Given the description of an element on the screen output the (x, y) to click on. 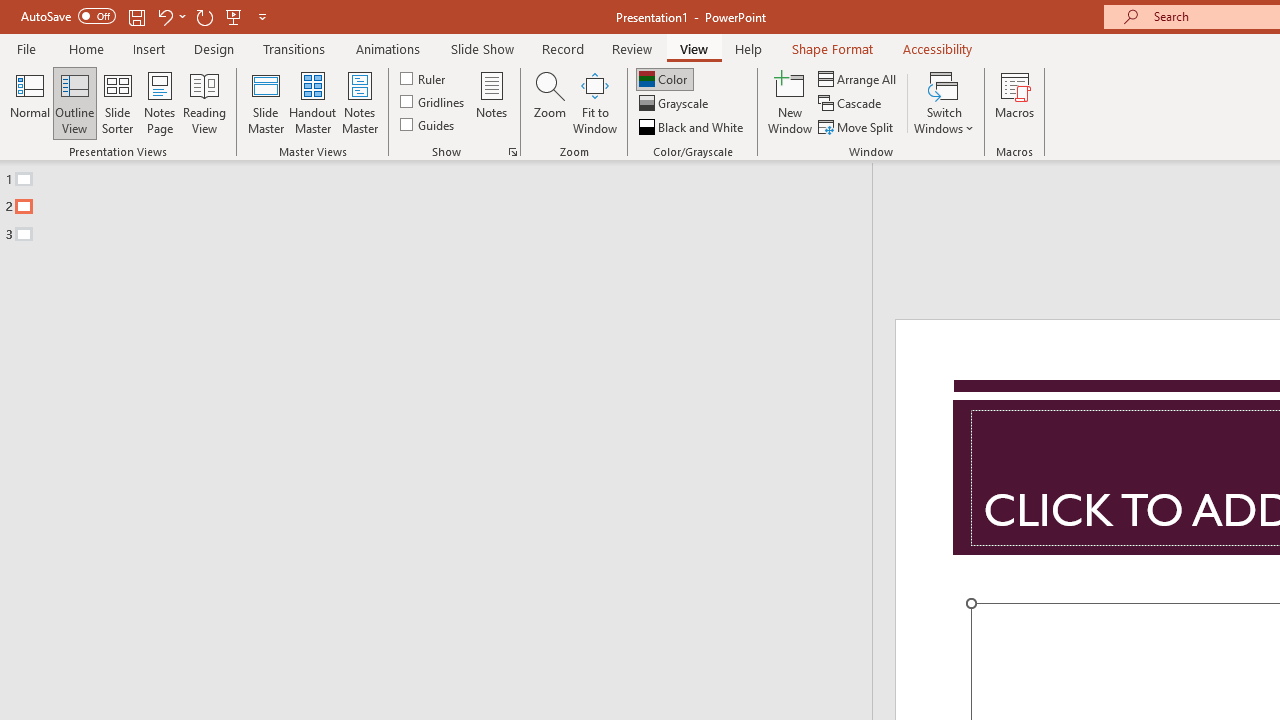
Handout Master (312, 102)
Fit to Window (594, 102)
New Window (790, 102)
Gridlines (433, 101)
Slide Master (265, 102)
